Given the description of an element on the screen output the (x, y) to click on. 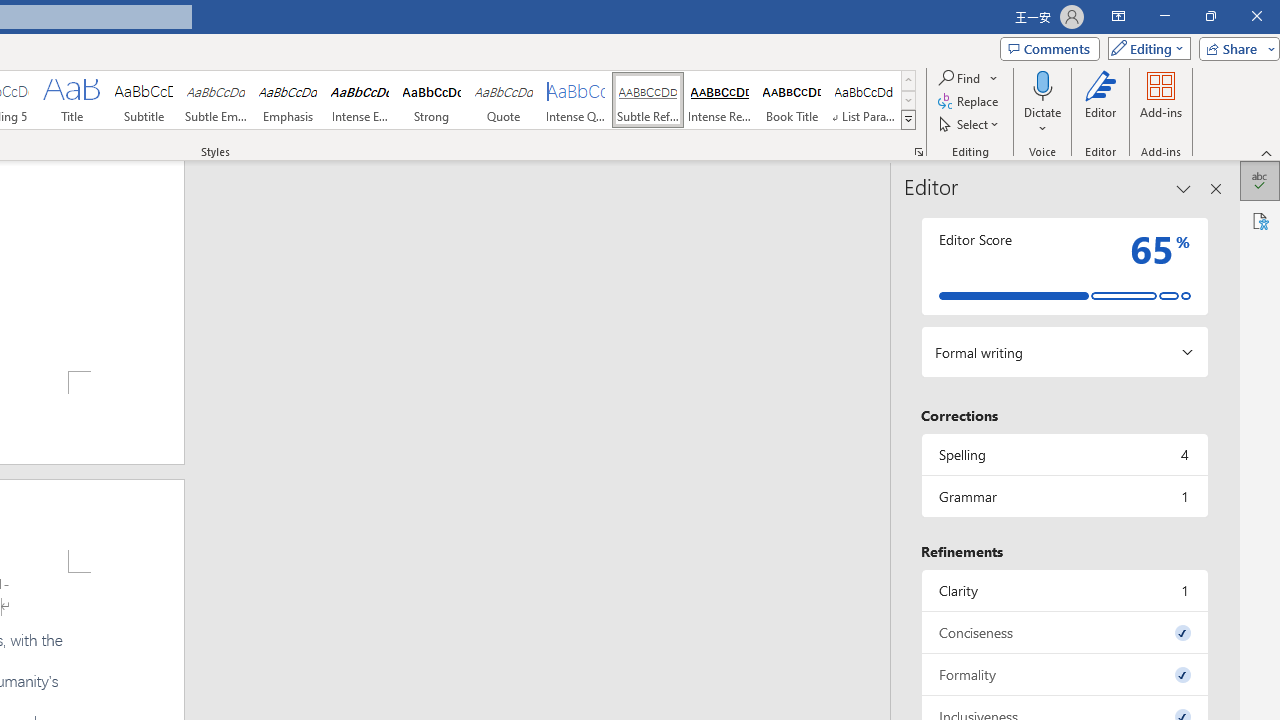
Intense Reference (719, 100)
Intense Emphasis (359, 100)
Emphasis (287, 100)
Accessibility (1260, 220)
Strong (431, 100)
Spelling, 4 issues. Press space or enter to review items. (1064, 454)
Subtle Emphasis (216, 100)
Conciseness, 0 issues. Press space or enter to review items. (1064, 632)
Book Title (792, 100)
Clarity, 1 issue. Press space or enter to review items. (1064, 590)
